Given the description of an element on the screen output the (x, y) to click on. 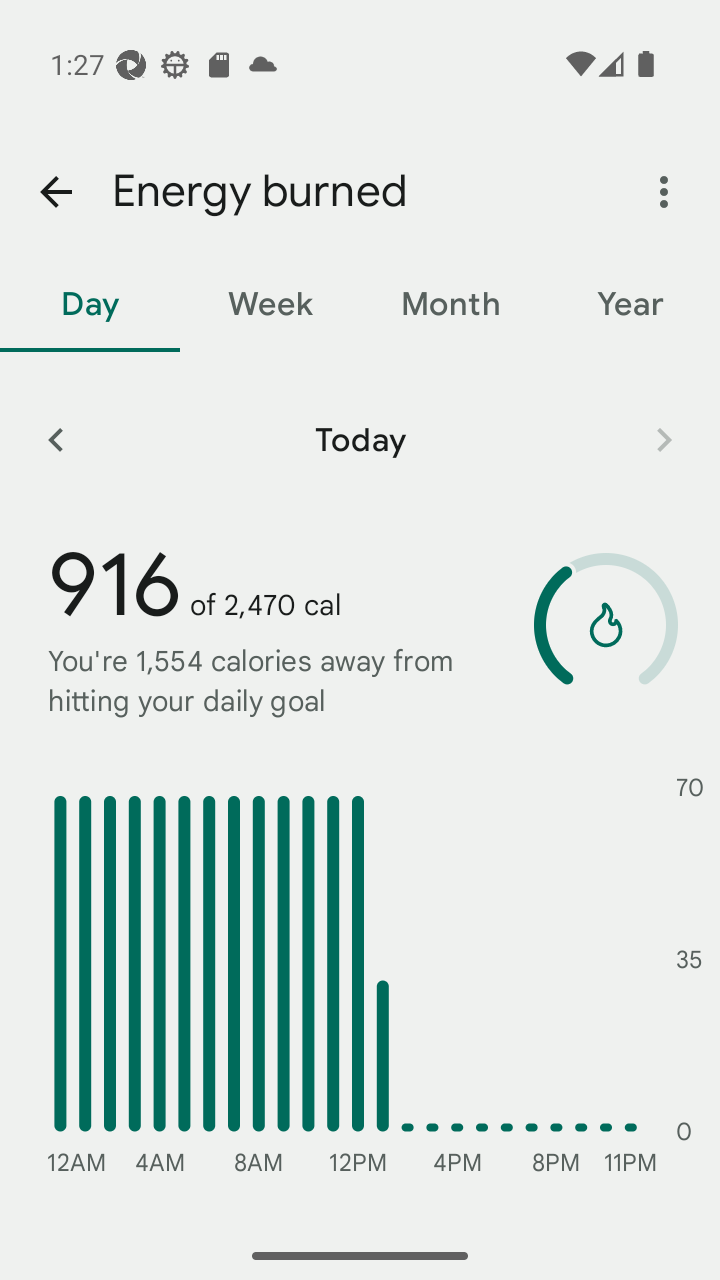
Go back (55, 191)
More options (664, 191)
Week (270, 304)
Month (450, 304)
Year (630, 304)
Previous Day (55, 439)
Next Day (664, 439)
